Given the description of an element on the screen output the (x, y) to click on. 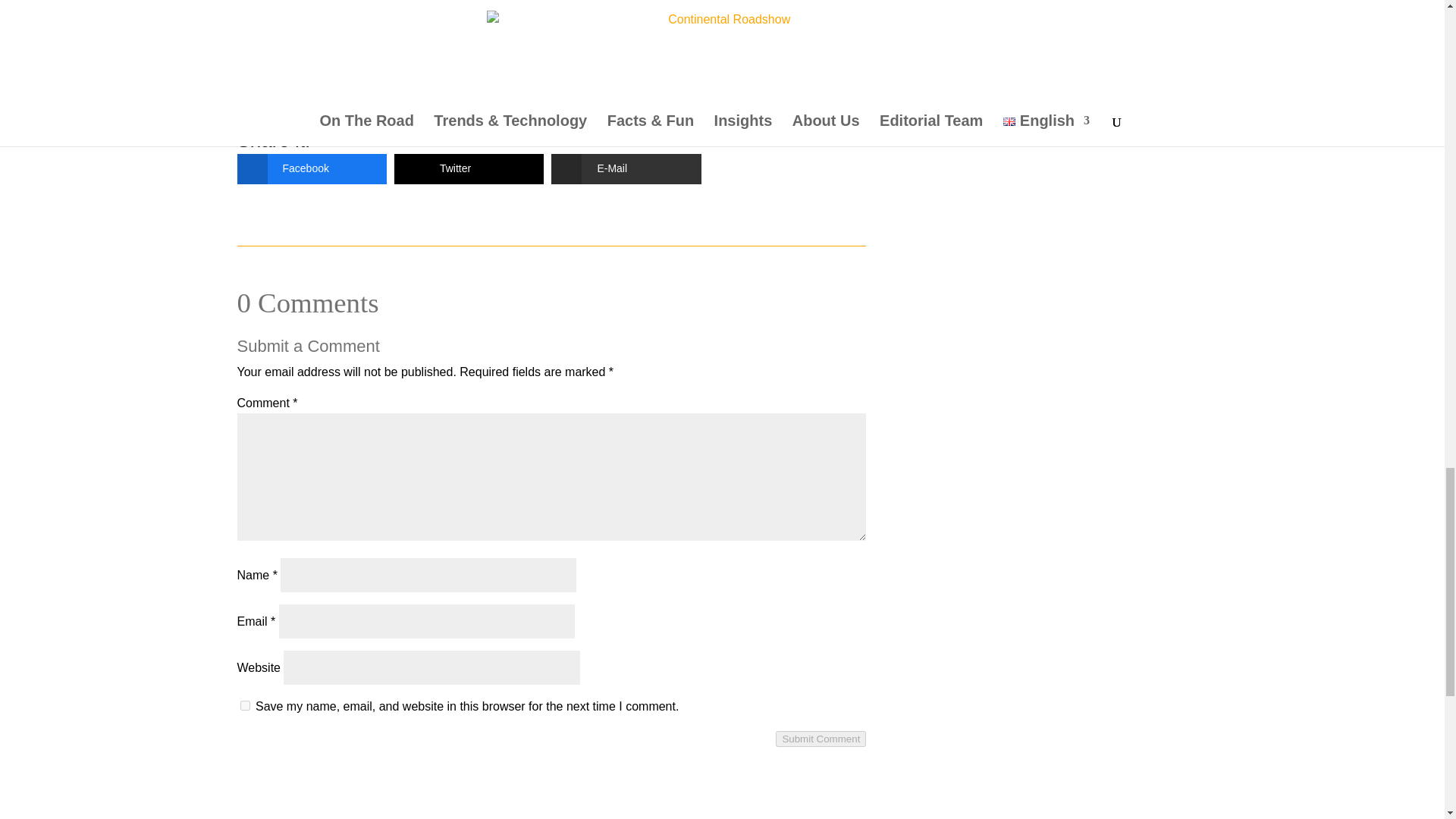
E-Mail (614, 168)
yes (244, 705)
Twitter (457, 168)
Facebook (298, 168)
Submit Comment (821, 738)
